Given the description of an element on the screen output the (x, y) to click on. 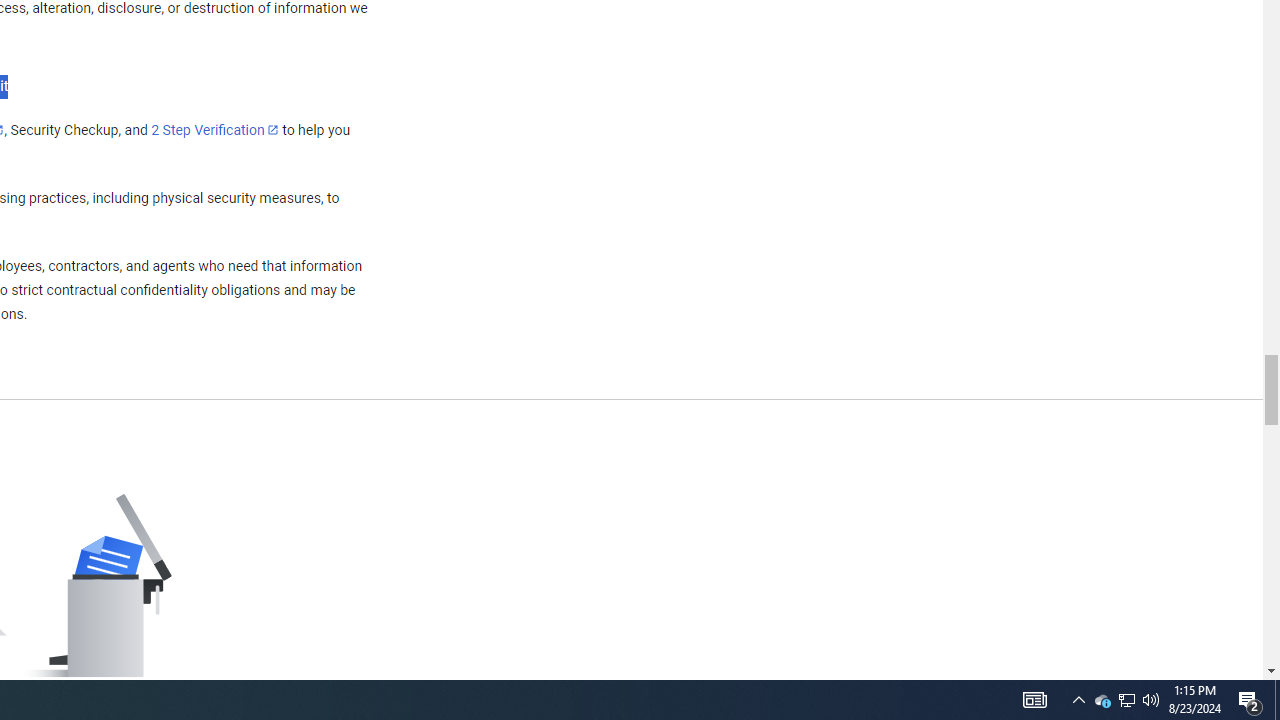
2 Step Verification (215, 129)
